Given the description of an element on the screen output the (x, y) to click on. 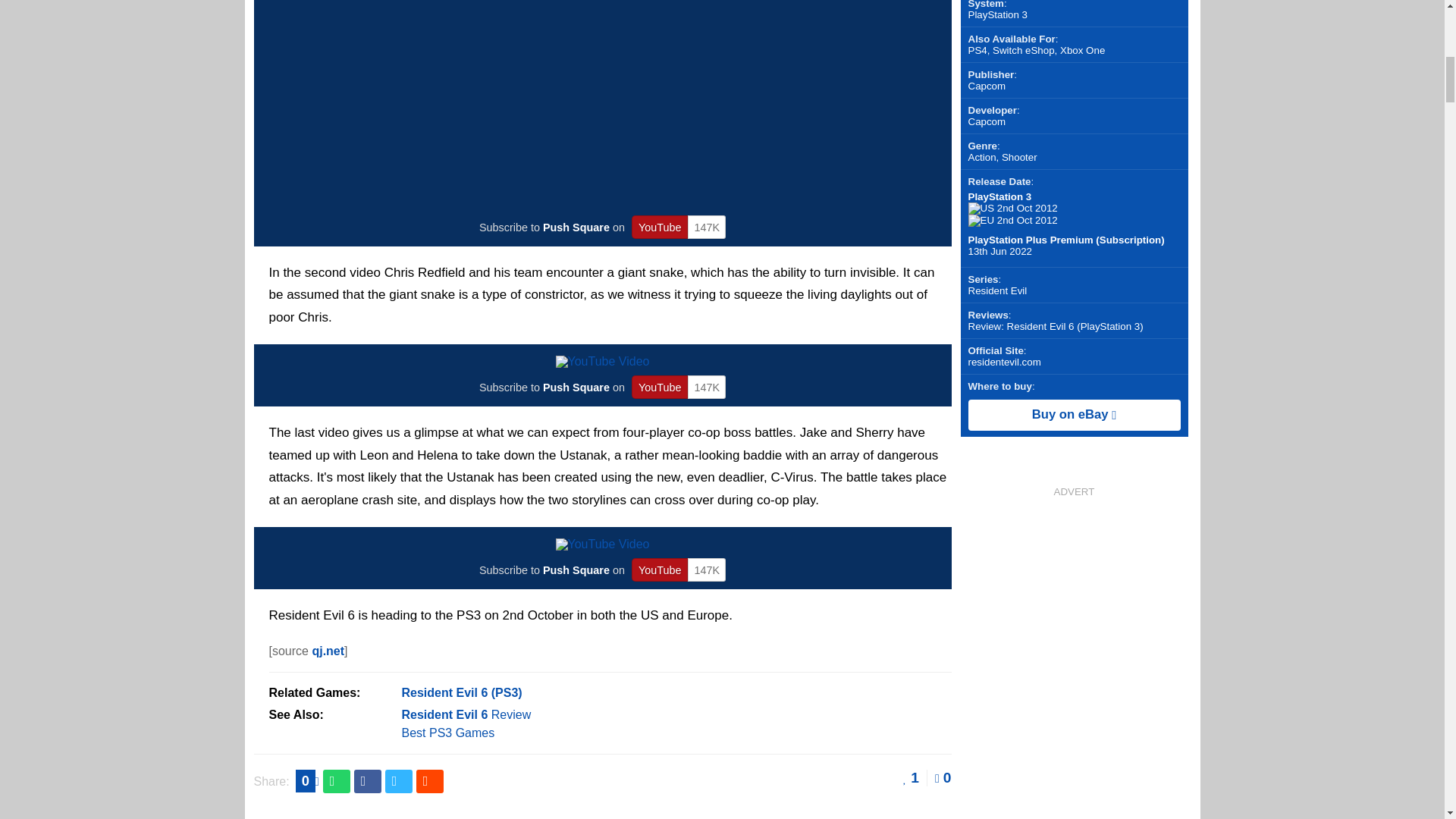
Play (602, 544)
Play (602, 361)
